Given the description of an element on the screen output the (x, y) to click on. 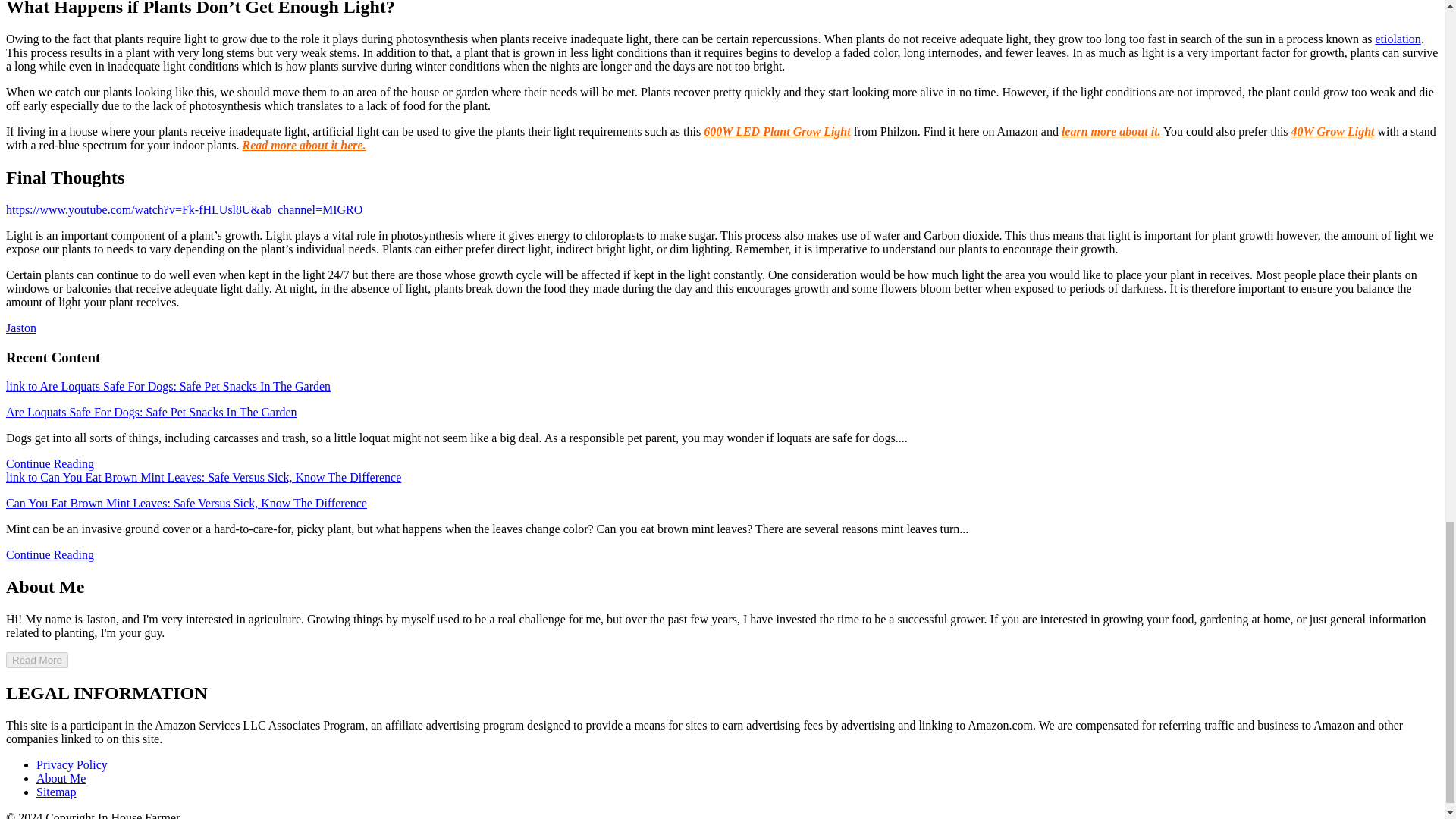
Are Loquats Safe For Dogs: Safe Pet Snacks In The Garden (151, 411)
learn more about it. (1110, 131)
Continue Reading (49, 554)
40W Grow Light (1332, 131)
etiolation (1397, 38)
Privacy Policy (71, 764)
About Me (60, 778)
Read More (36, 659)
Jaston (20, 327)
Read more about it here. (303, 144)
600W LED Plant Grow Light (776, 131)
Sitemap (55, 791)
Continue Reading (49, 463)
